Given the description of an element on the screen output the (x, y) to click on. 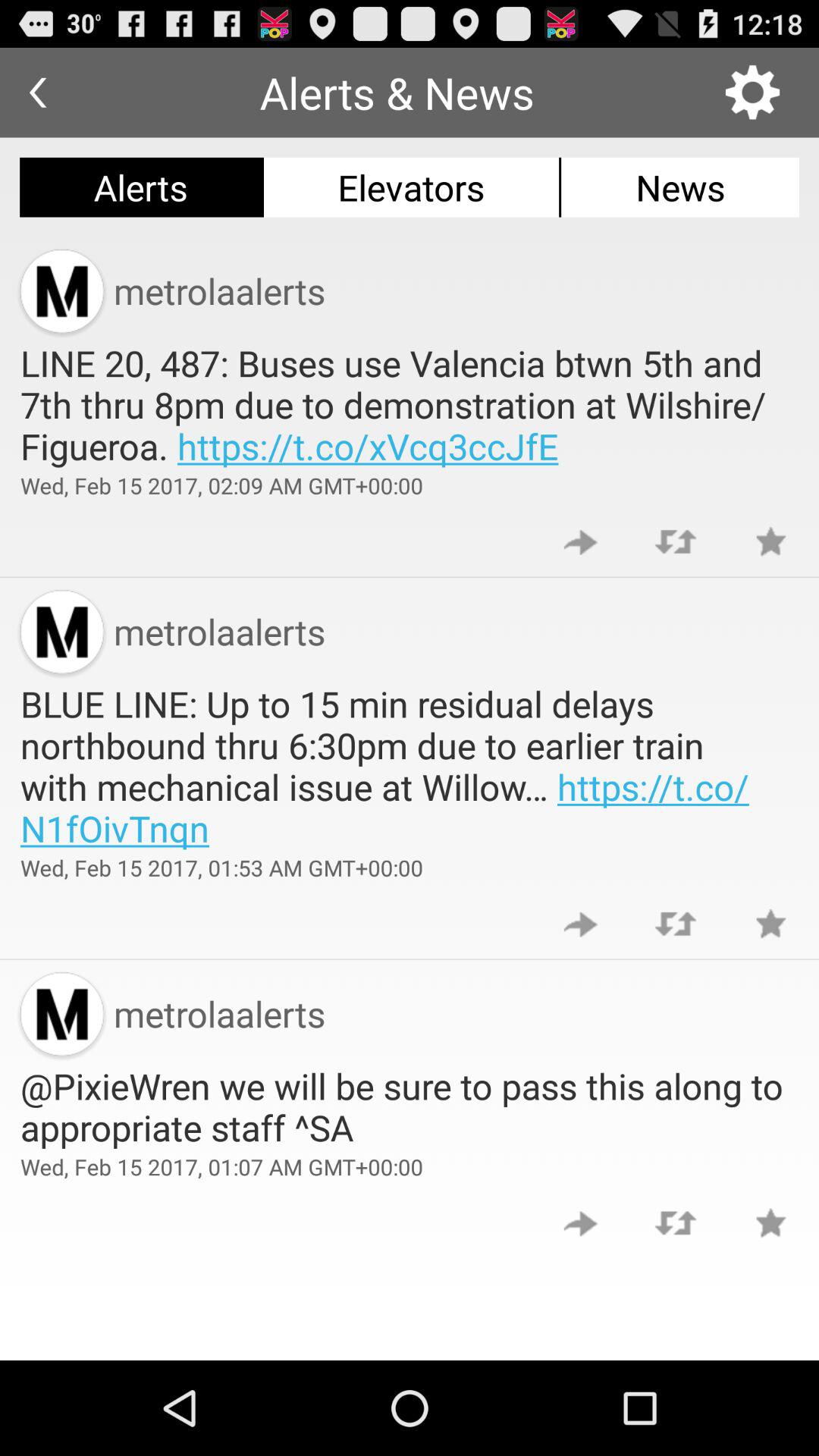
turn off item above alerts item (37, 92)
